Given the description of an element on the screen output the (x, y) to click on. 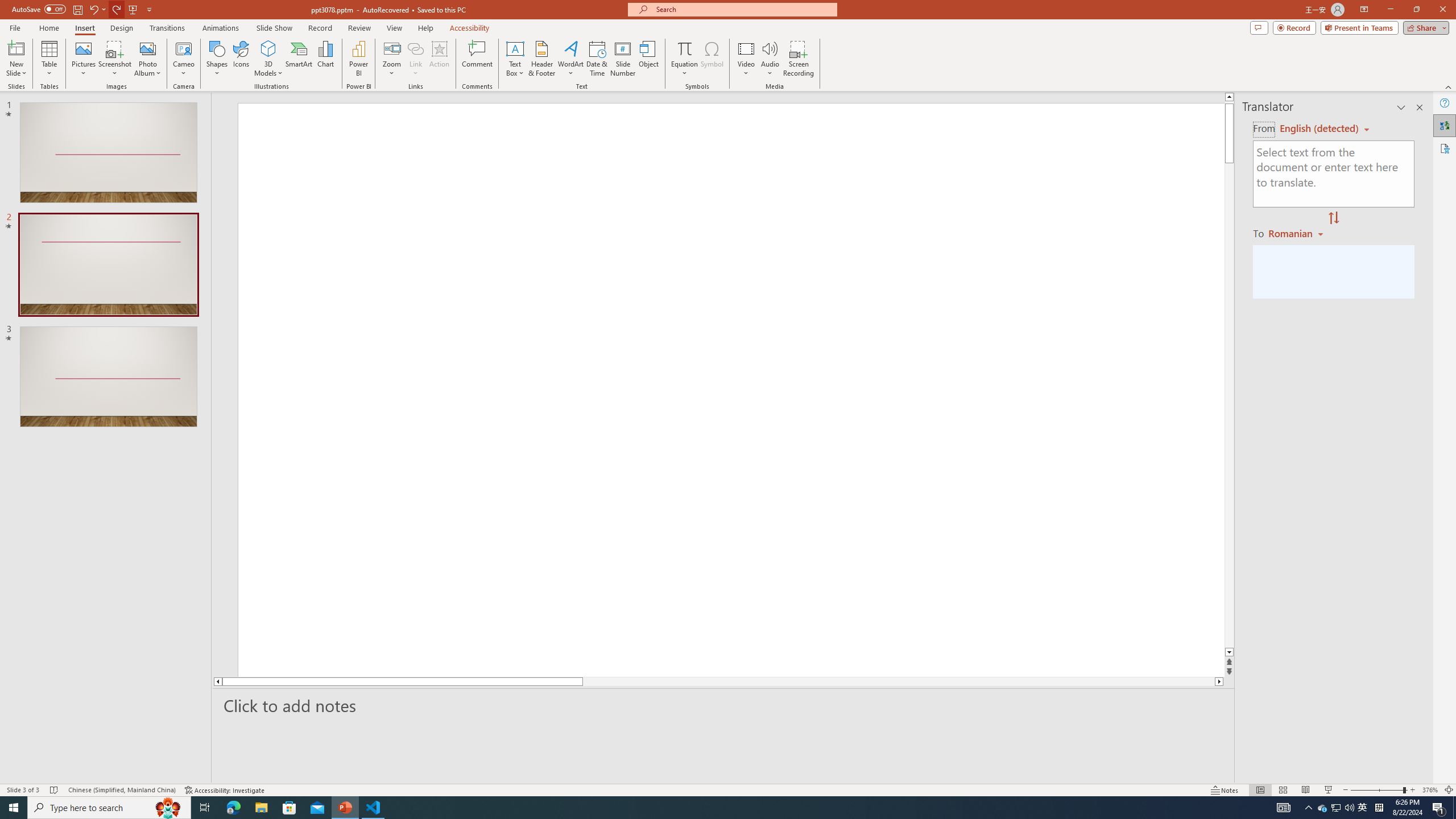
Screenshot (114, 58)
